Given the description of an element on the screen output the (x, y) to click on. 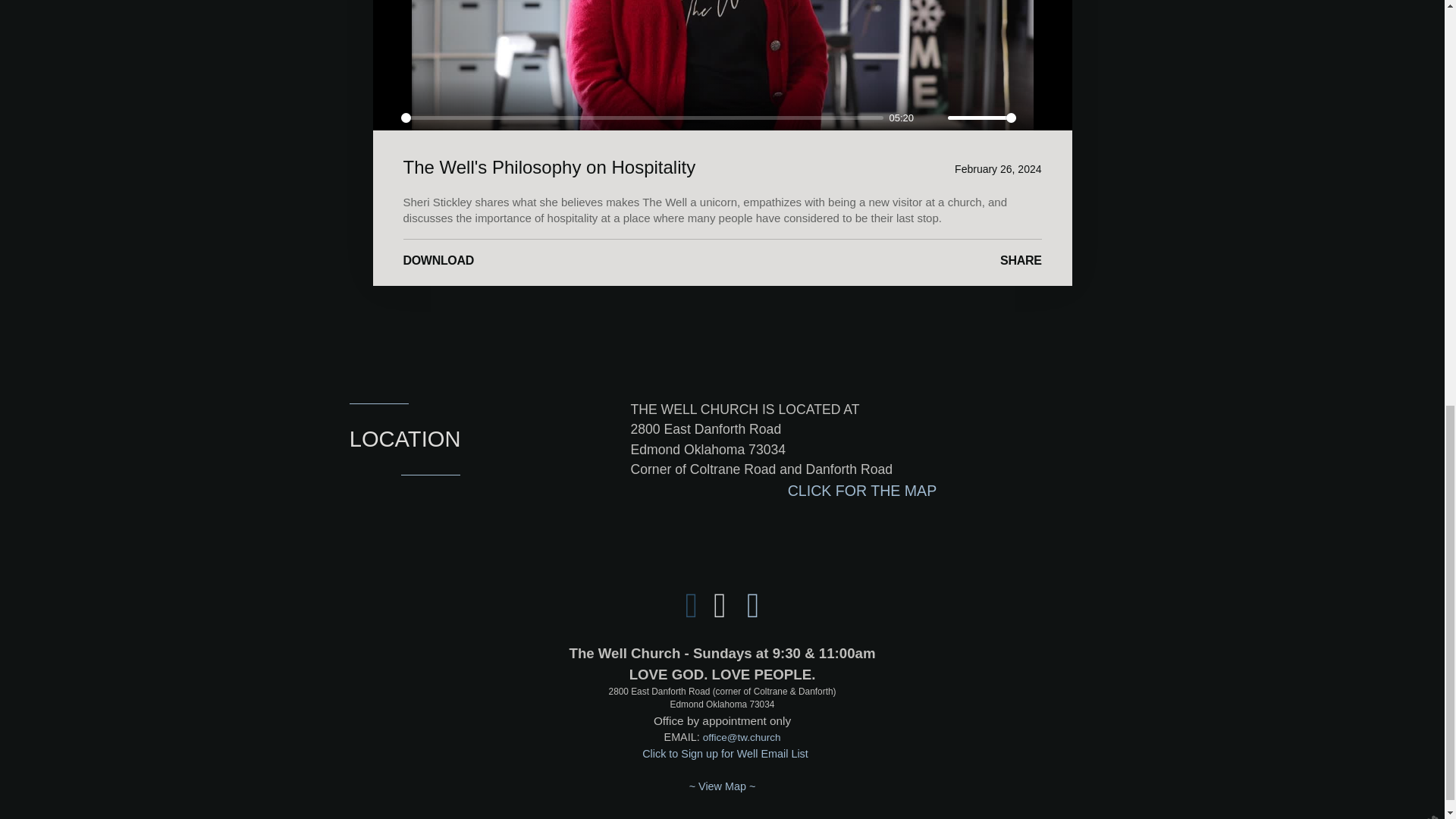
0 (641, 117)
1 (981, 117)
Play (384, 118)
